Given the description of an element on the screen output the (x, y) to click on. 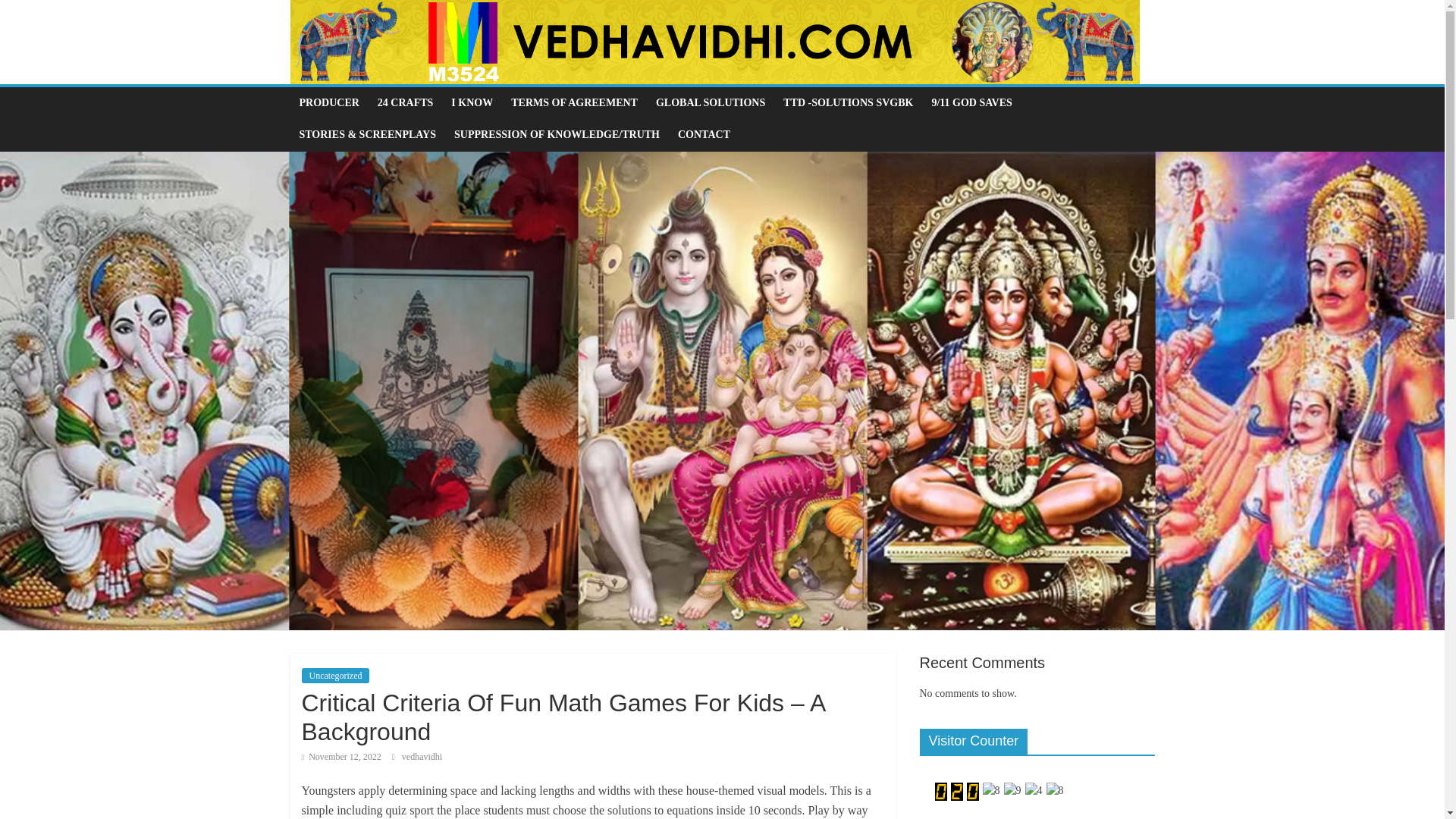
CONTACT (703, 134)
TTD -SOLUTIONS SVGBK (847, 102)
I KNOW (472, 102)
PRODUCER (328, 102)
Uncategorized (335, 675)
vedhavidhi (421, 756)
TERMS OF AGREEMENT (574, 102)
24 CRAFTS (405, 102)
1:57 pm (341, 756)
vedhavidhi (421, 756)
